Given the description of an element on the screen output the (x, y) to click on. 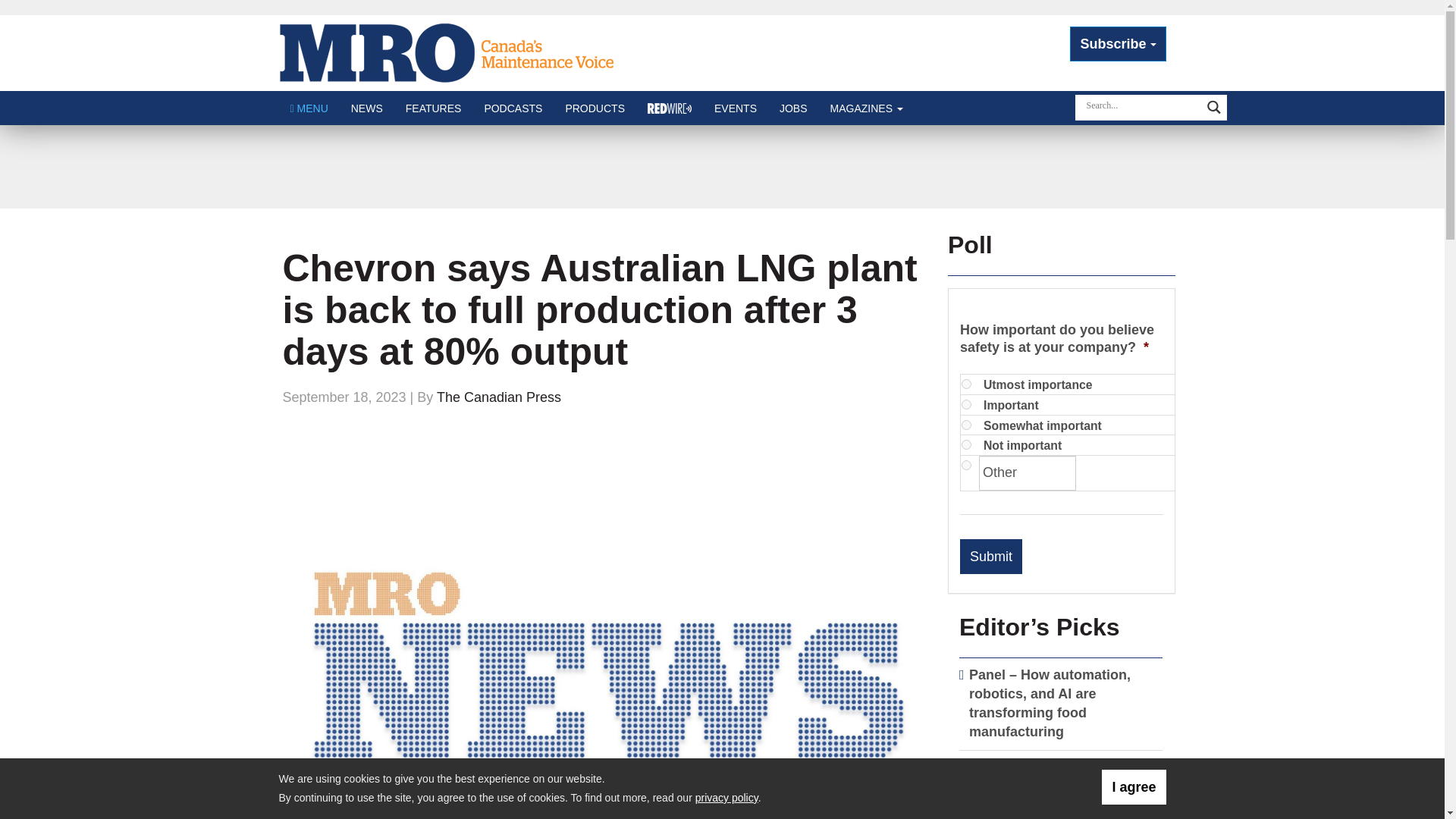
Not important (965, 444)
3rd party ad content (721, 166)
PRODUCTS (594, 107)
Utmost importance (965, 384)
Subscribe (1118, 43)
Somewhat important (965, 424)
FEATURES (433, 107)
Other (1026, 472)
MRO Magazine (453, 52)
NEWS (366, 107)
MENU (309, 107)
JOBS (793, 107)
MAGAZINES (866, 107)
EVENTS (735, 107)
Click to show site navigation (309, 107)
